Given the description of an element on the screen output the (x, y) to click on. 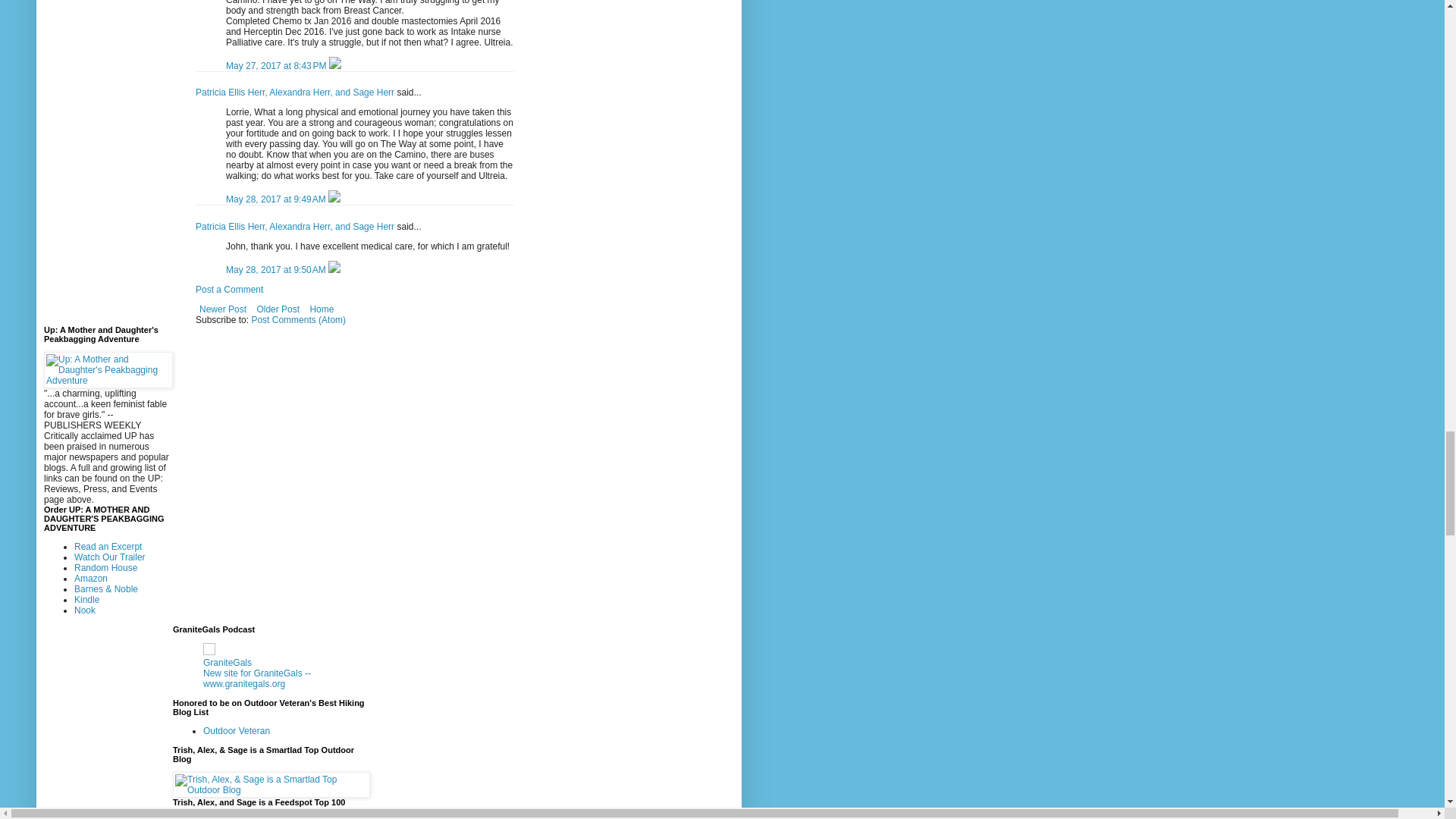
comment permalink (277, 65)
Delete Comment (334, 65)
